Given the description of an element on the screen output the (x, y) to click on. 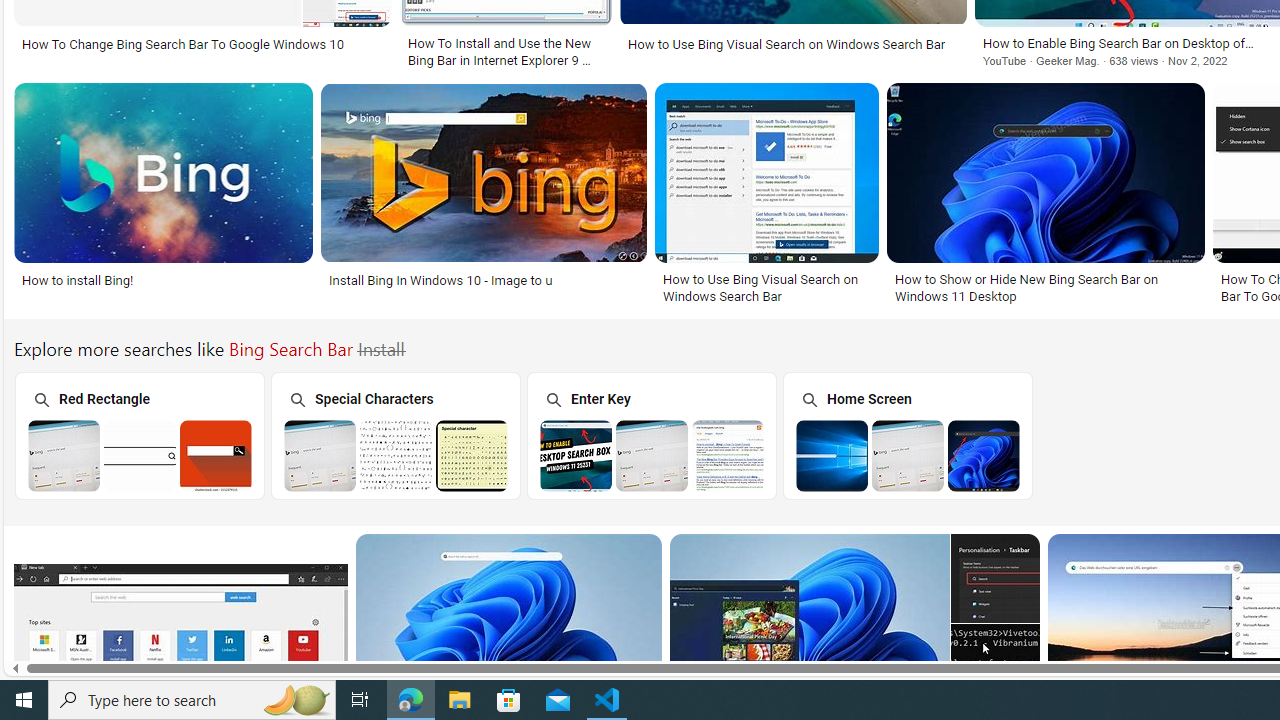
Bing Search Bar Special Characters Special Characters (395, 435)
How to Use Bing Visual Search on Windows Search BarSave (771, 196)
How to Use Bing Visual Search on Windows Search Bar (766, 287)
